Given the description of an element on the screen output the (x, y) to click on. 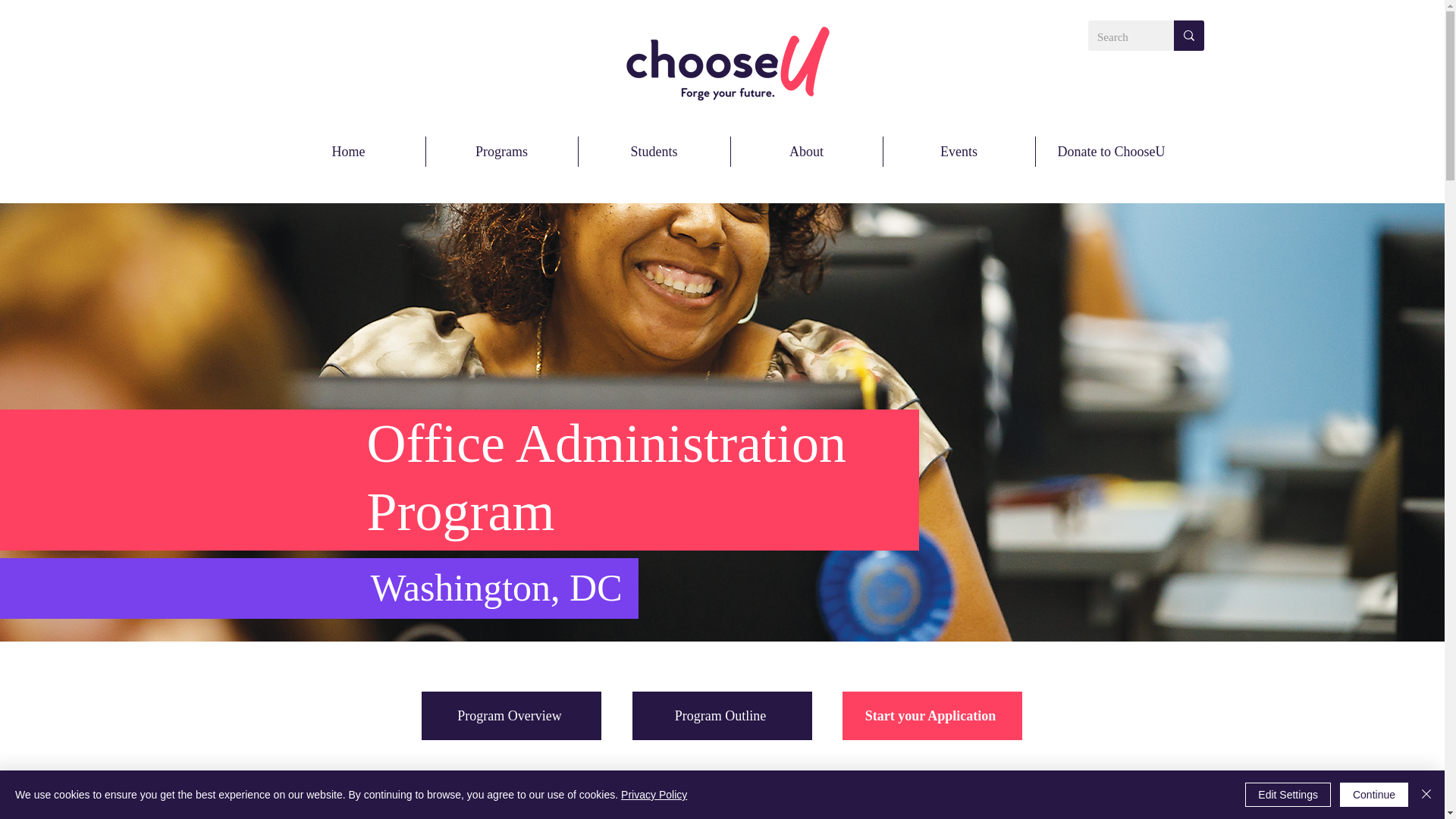
Program Outline (721, 715)
Privacy Policy (654, 794)
Start your Application (931, 715)
Programs (500, 151)
Events (958, 151)
Continue (1373, 794)
Edit Settings (1287, 794)
Students (654, 151)
About (805, 151)
Donate to ChooseU (1109, 151)
Program Overview (511, 715)
Home (347, 151)
